Given the description of an element on the screen output the (x, y) to click on. 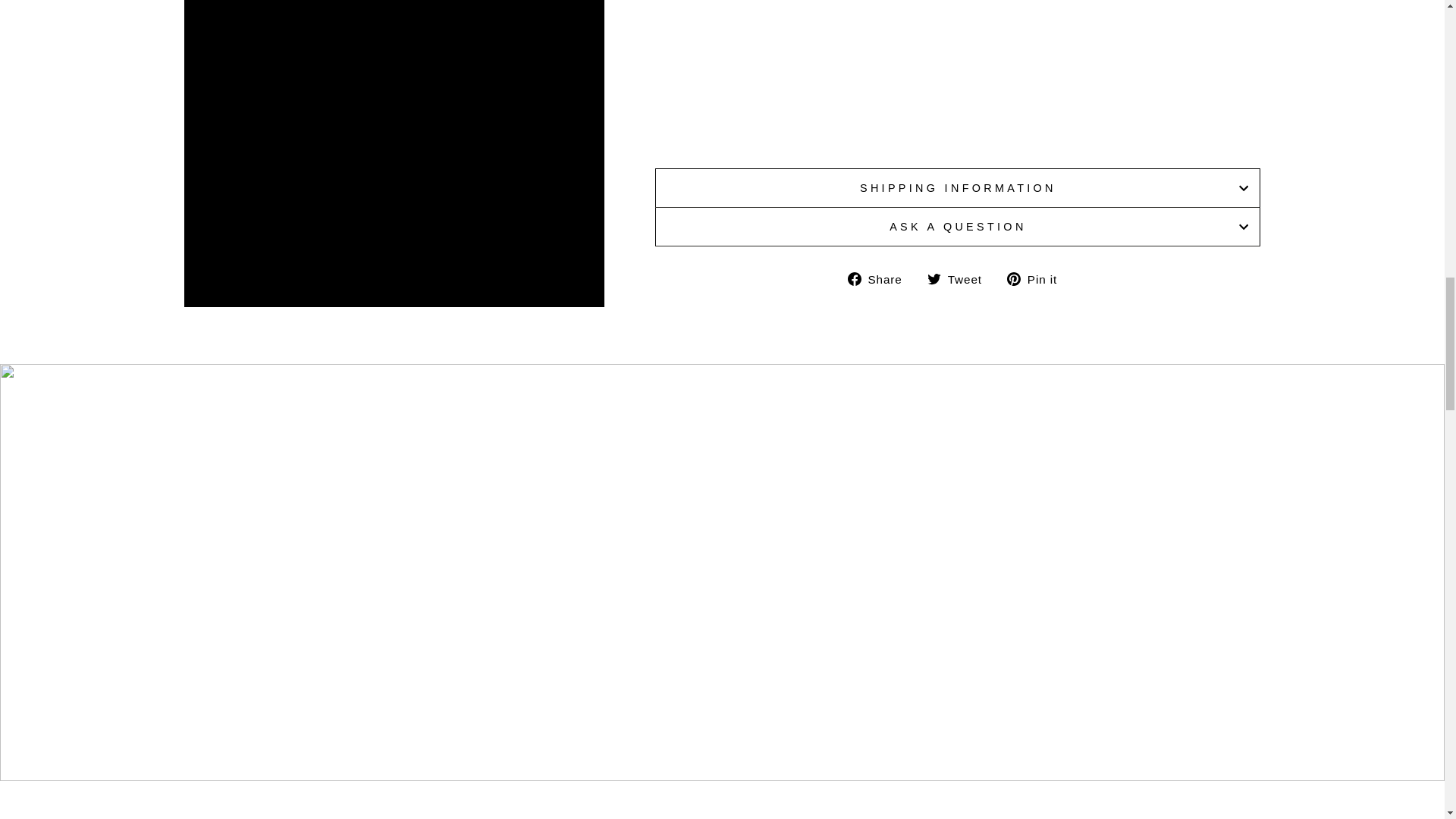
Share on Facebook (880, 278)
YouTube video player (867, 71)
Tweet on Twitter (959, 278)
Pin on Pinterest (1037, 278)
